Given the description of an element on the screen output the (x, y) to click on. 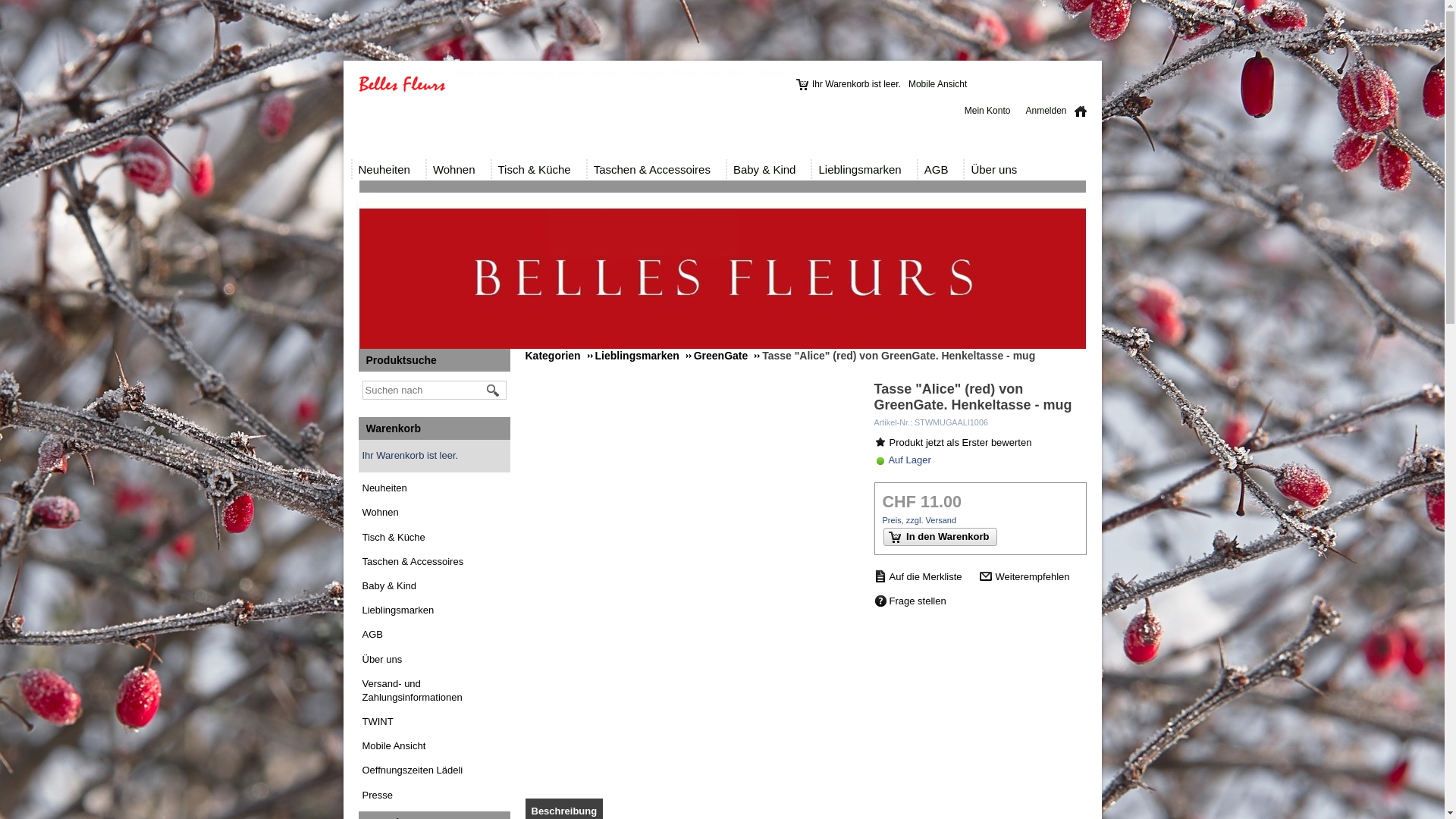
Anmelden Element type: text (1049, 110)
Startseite Element type: hover (1079, 110)
Weiterempfehlen Element type: text (1024, 577)
Taschen & Accessoires Element type: text (655, 169)
Wohnen Element type: text (458, 169)
Mein Konto Element type: text (991, 110)
TWINT Element type: text (377, 721)
Kategorien Element type: text (558, 355)
Neuheiten Element type: text (434, 488)
GreenGate Element type: text (726, 355)
Wohnen Element type: text (434, 512)
Frage stellen Element type: text (909, 601)
In den Warenkorb Element type: text (939, 536)
Produkt jetzt als Erster bewerten Element type: text (952, 443)
Baby & Kind Element type: text (434, 586)
Baby & Kind Element type: text (768, 169)
Versand- und Zahlungsinformationen Element type: text (412, 689)
AGB Element type: text (940, 169)
AGB Element type: text (434, 634)
Auf die Merkliste Element type: text (917, 576)
Presse Element type: text (377, 794)
Lieblingsmarken Element type: text (863, 169)
Mobile Ansicht Element type: text (941, 84)
Neuheiten Element type: text (387, 169)
Lieblingsmarken Element type: text (434, 610)
Taschen & Accessoires Element type: text (434, 561)
Lieblingsmarken Element type: text (643, 355)
Suche starten Element type: hover (493, 390)
Mobile Ansicht Element type: text (394, 745)
